Given the description of an element on the screen output the (x, y) to click on. 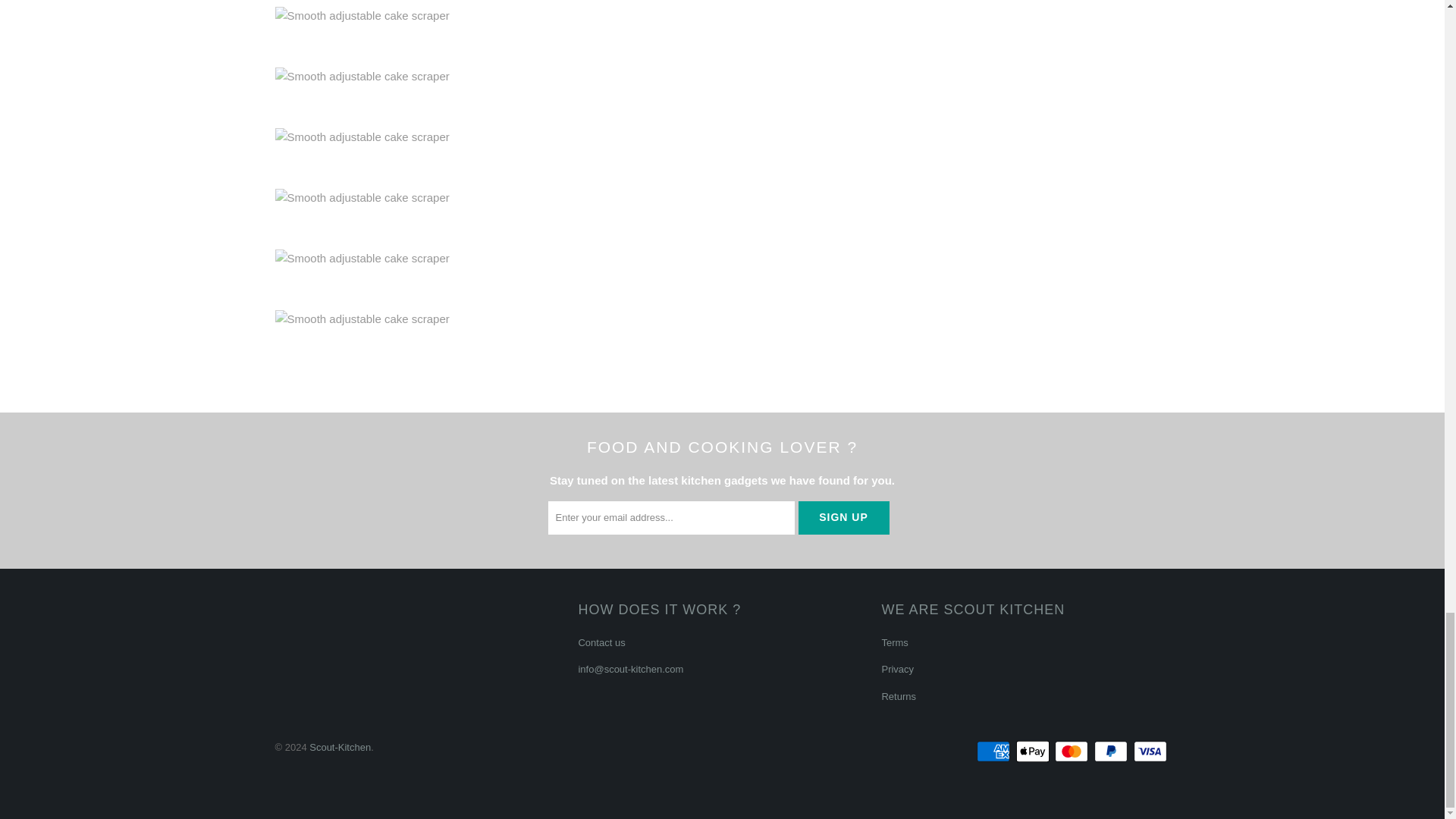
Visa (1150, 751)
Apple Pay (1034, 751)
Mastercard (1072, 751)
Sign Up (842, 516)
American Express (994, 751)
PayPal (1112, 751)
